Given the description of an element on the screen output the (x, y) to click on. 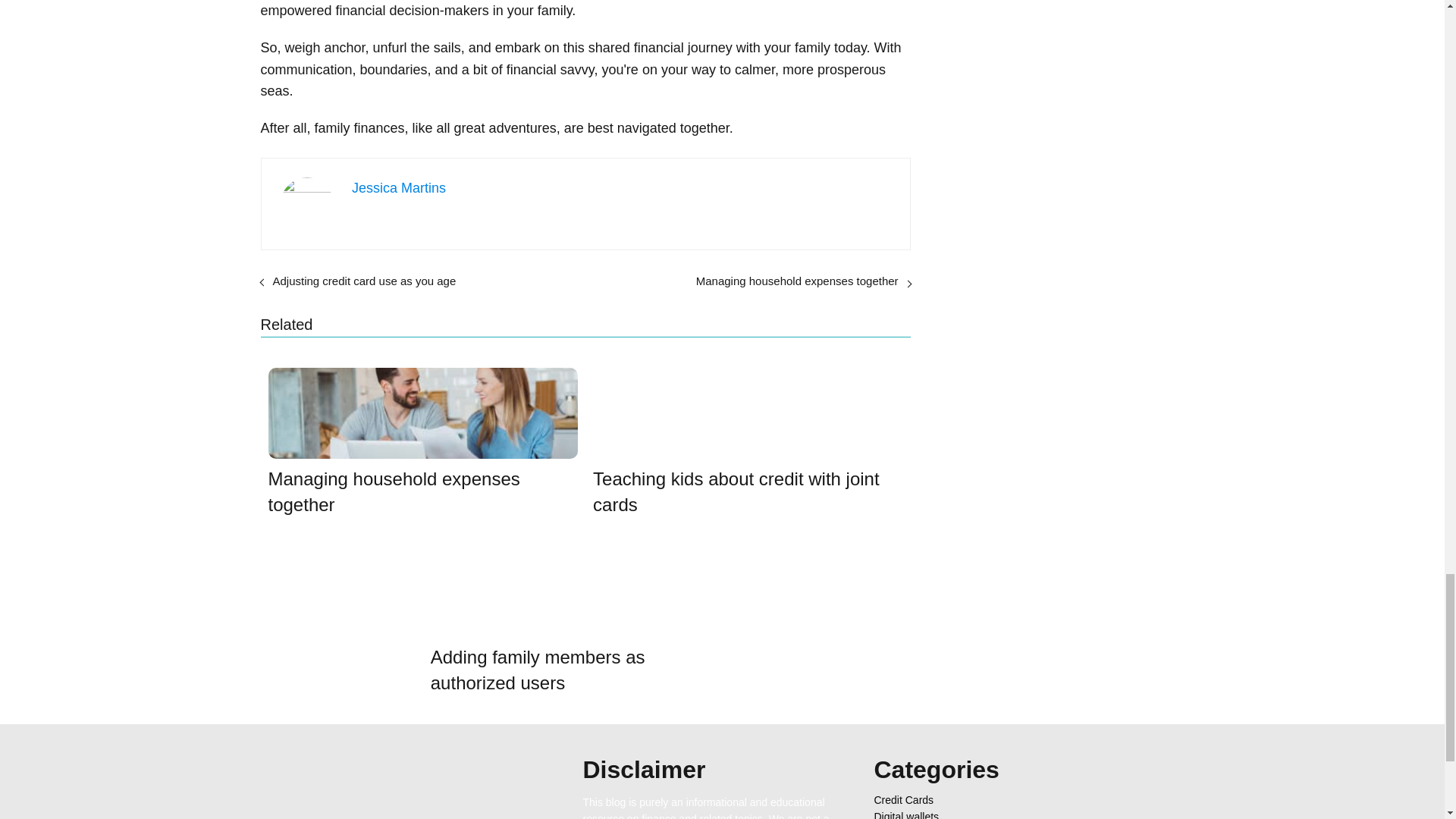
Managing household expenses together (422, 441)
Digital wallets (906, 814)
Jessica Martins (398, 187)
Adding family members as authorized users (585, 620)
Credit Cards (903, 799)
Managing household expenses together (796, 280)
Adjusting credit card use as you age (365, 280)
Teaching kids about credit with joint cards (747, 441)
